Given the description of an element on the screen output the (x, y) to click on. 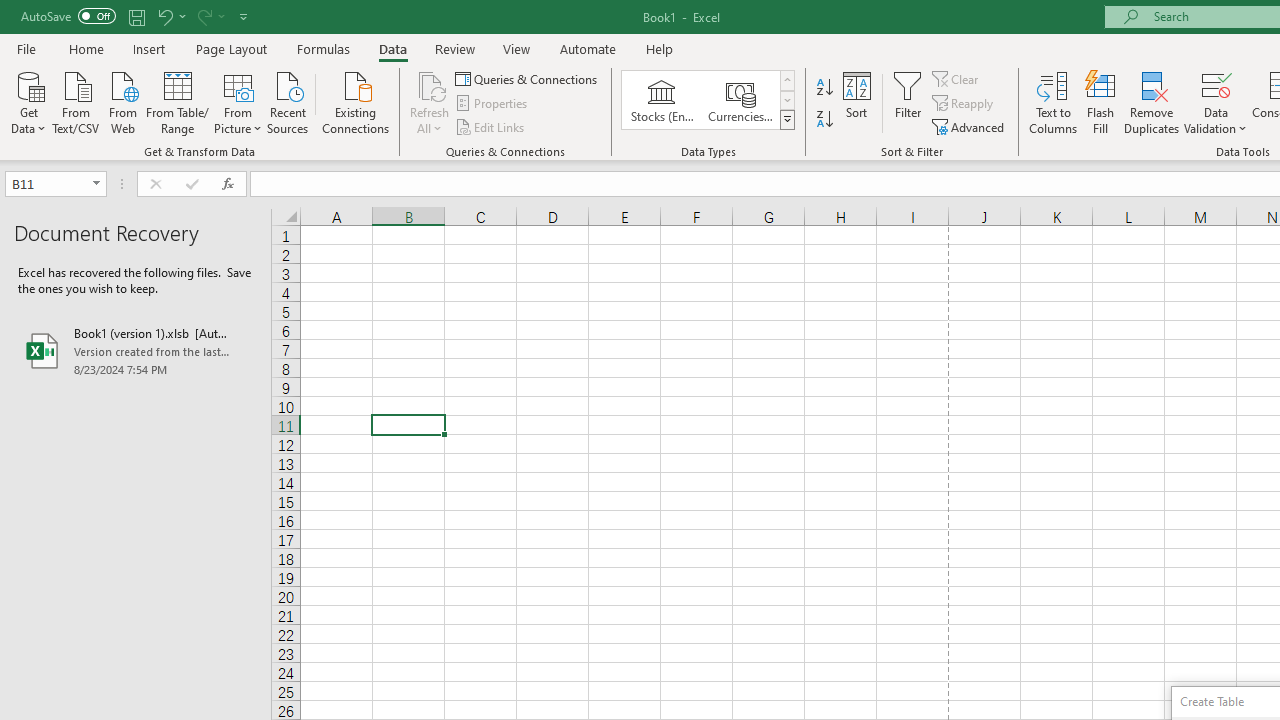
Review (454, 48)
Data Validation... (1215, 84)
Existing Connections (355, 101)
AutomationID: ConvertToLinkedEntity (708, 99)
Formulas (323, 48)
Filter (908, 102)
Clear (957, 78)
Queries & Connections (527, 78)
Reapply (964, 103)
Data Types (786, 120)
View (517, 48)
